Given the description of an element on the screen output the (x, y) to click on. 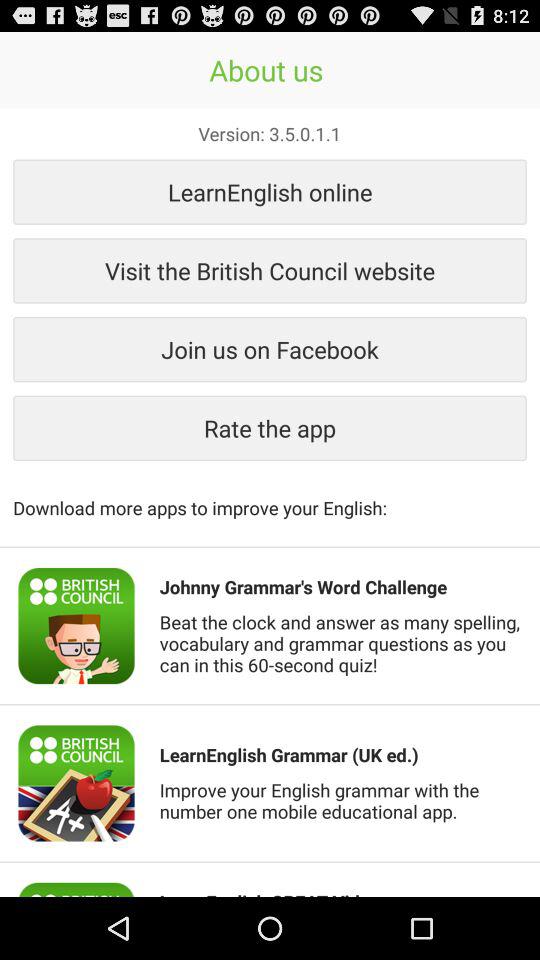
choose button above rate the app item (269, 349)
